Given the description of an element on the screen output the (x, y) to click on. 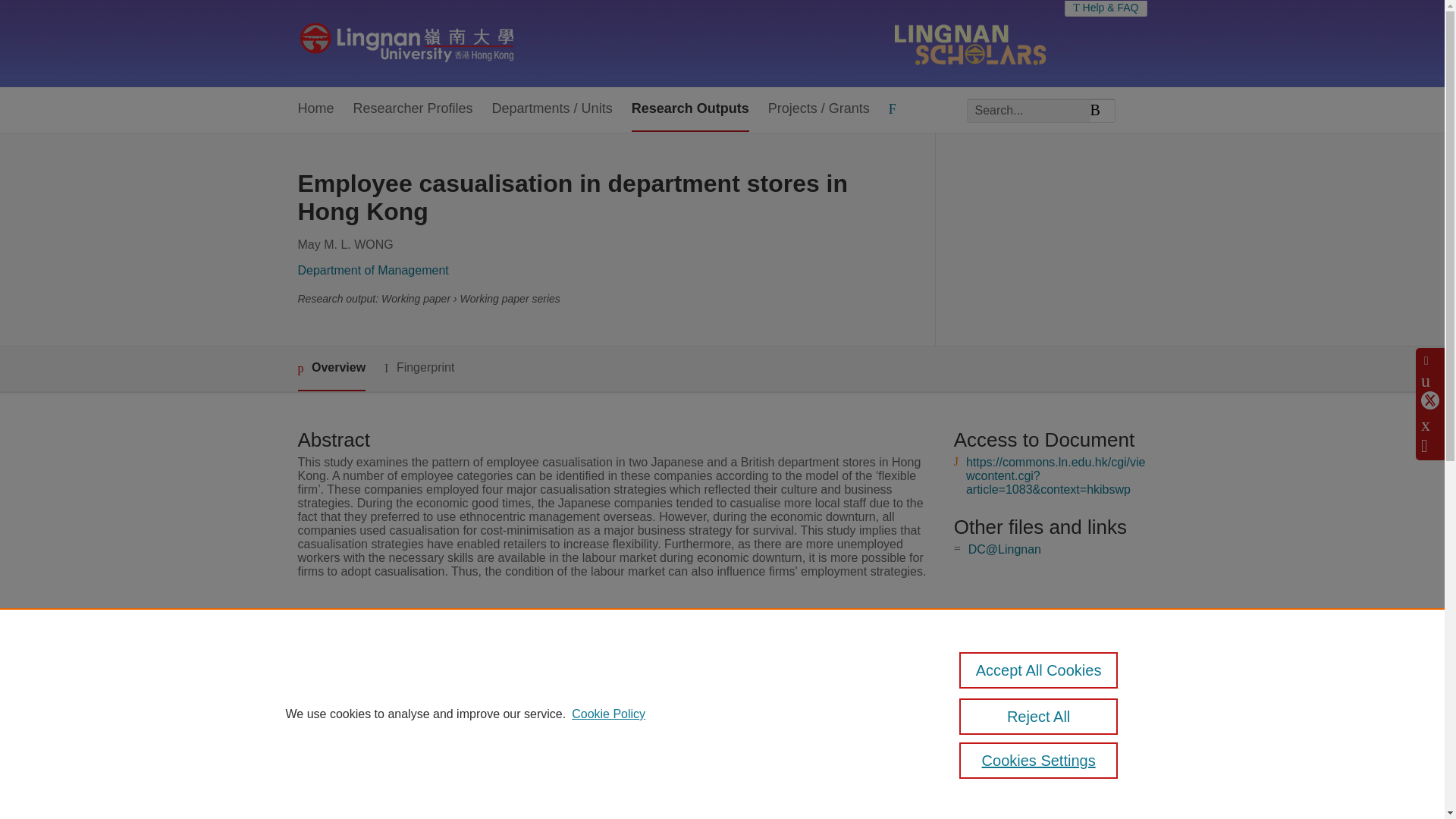
Department of Management (372, 269)
Fingerprint (419, 367)
Research Outputs (690, 108)
Overview (331, 368)
Lingnan Scholars Home (406, 43)
Researcher Profiles (413, 108)
Hong Kong Institute of Business Studies, Lingnan University (664, 658)
